Given the description of an element on the screen output the (x, y) to click on. 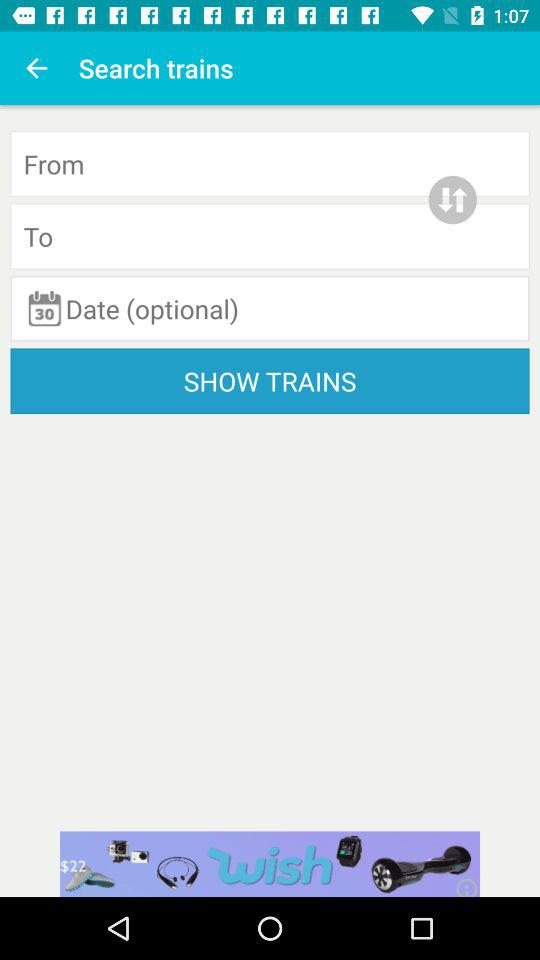
search train for where we go (269, 236)
